Given the description of an element on the screen output the (x, y) to click on. 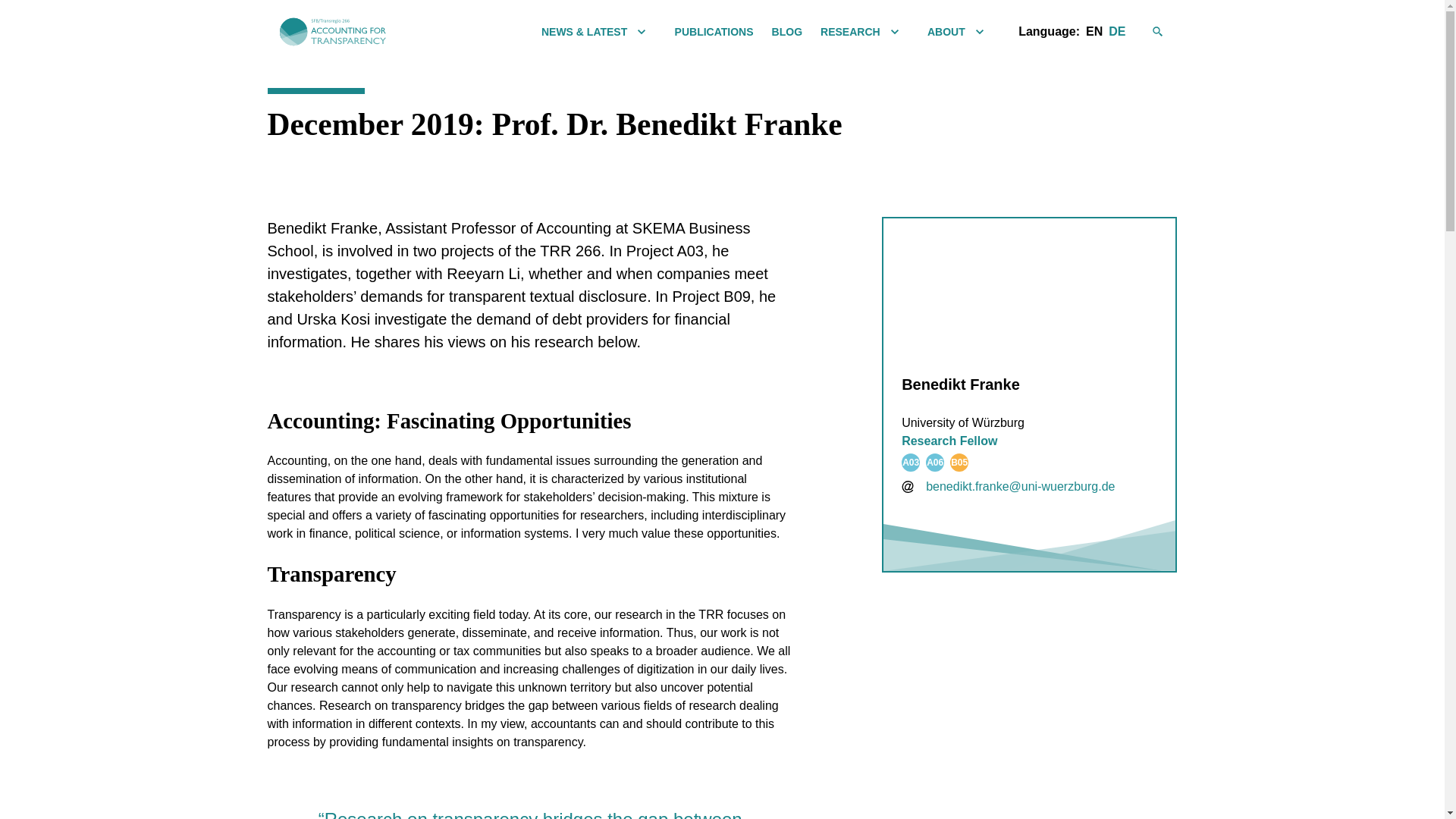
EN (1094, 31)
TRR266 (332, 31)
Search (1164, 32)
Switch Language: English (1094, 31)
ABOUT (946, 31)
PUBLICATIONS (714, 31)
Switch Language: Deutsch (1116, 31)
DE (1116, 31)
BLOG (786, 31)
RESEARCH (850, 31)
